Given the description of an element on the screen output the (x, y) to click on. 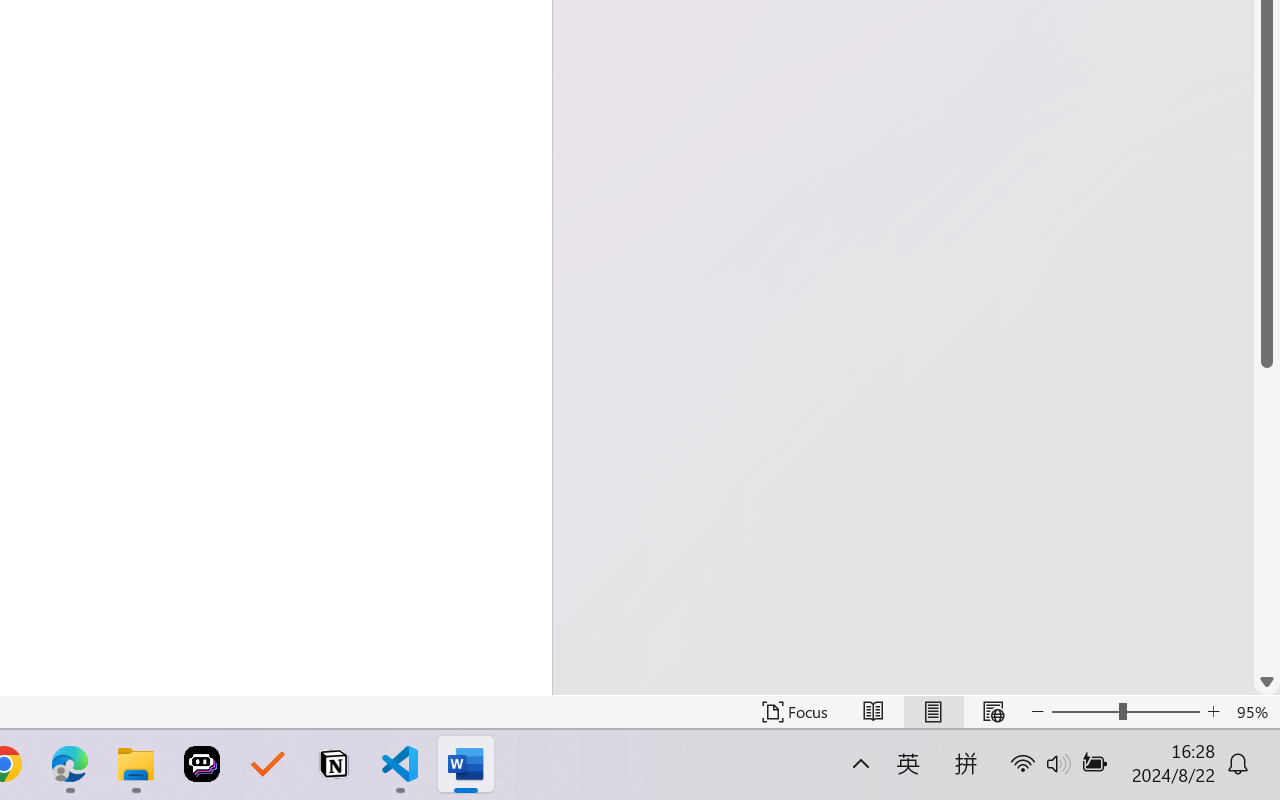
Line down (1267, 681)
Zoom 95% (1253, 712)
Page down (1267, 518)
